Given the description of an element on the screen output the (x, y) to click on. 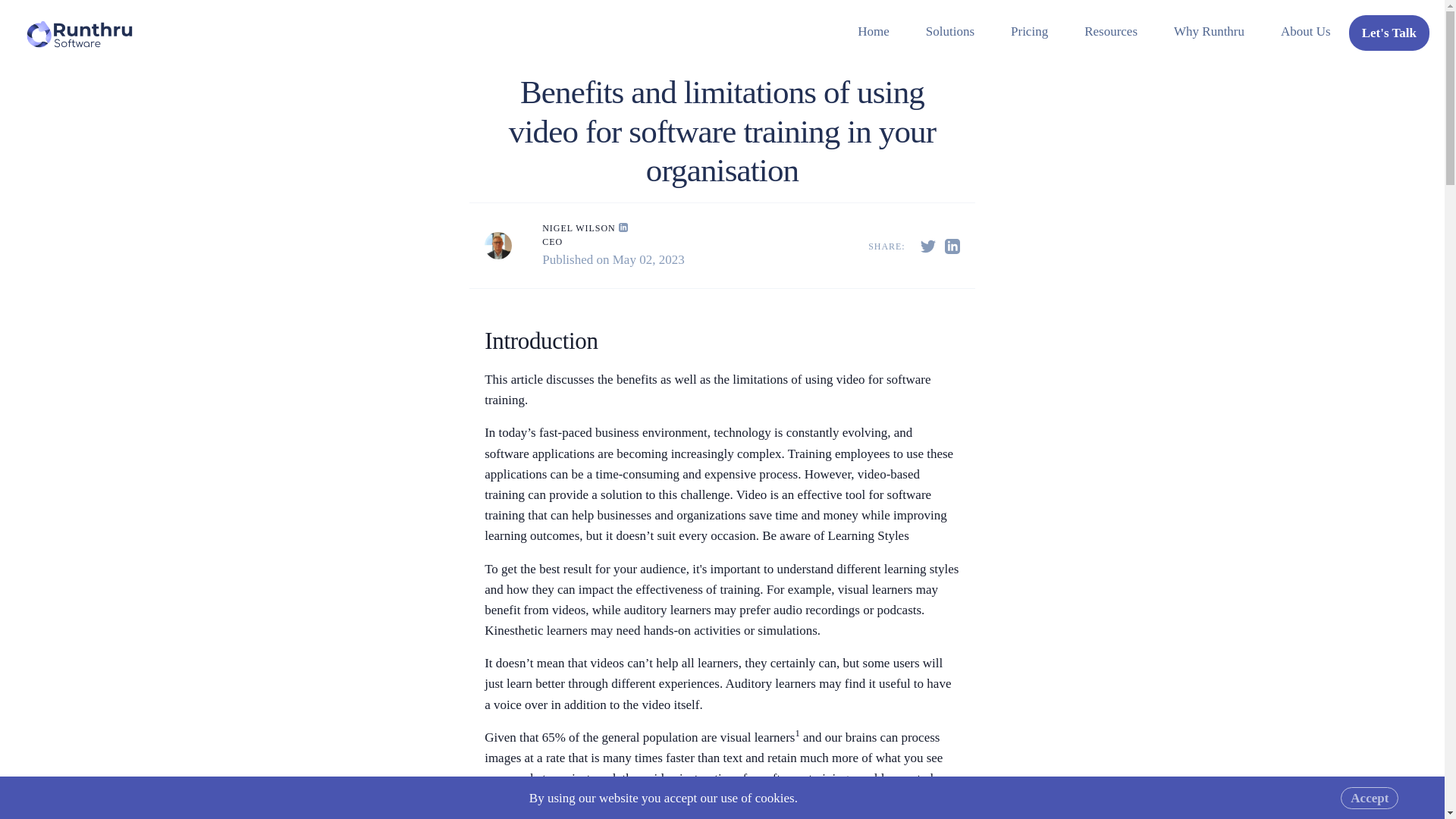
Solutions (949, 31)
Let's Talk (1389, 32)
Why Runthru (1209, 31)
Accept (1368, 798)
Home (873, 31)
Resources (1110, 31)
Pricing (1028, 31)
About Us (1305, 31)
